Given the description of an element on the screen output the (x, y) to click on. 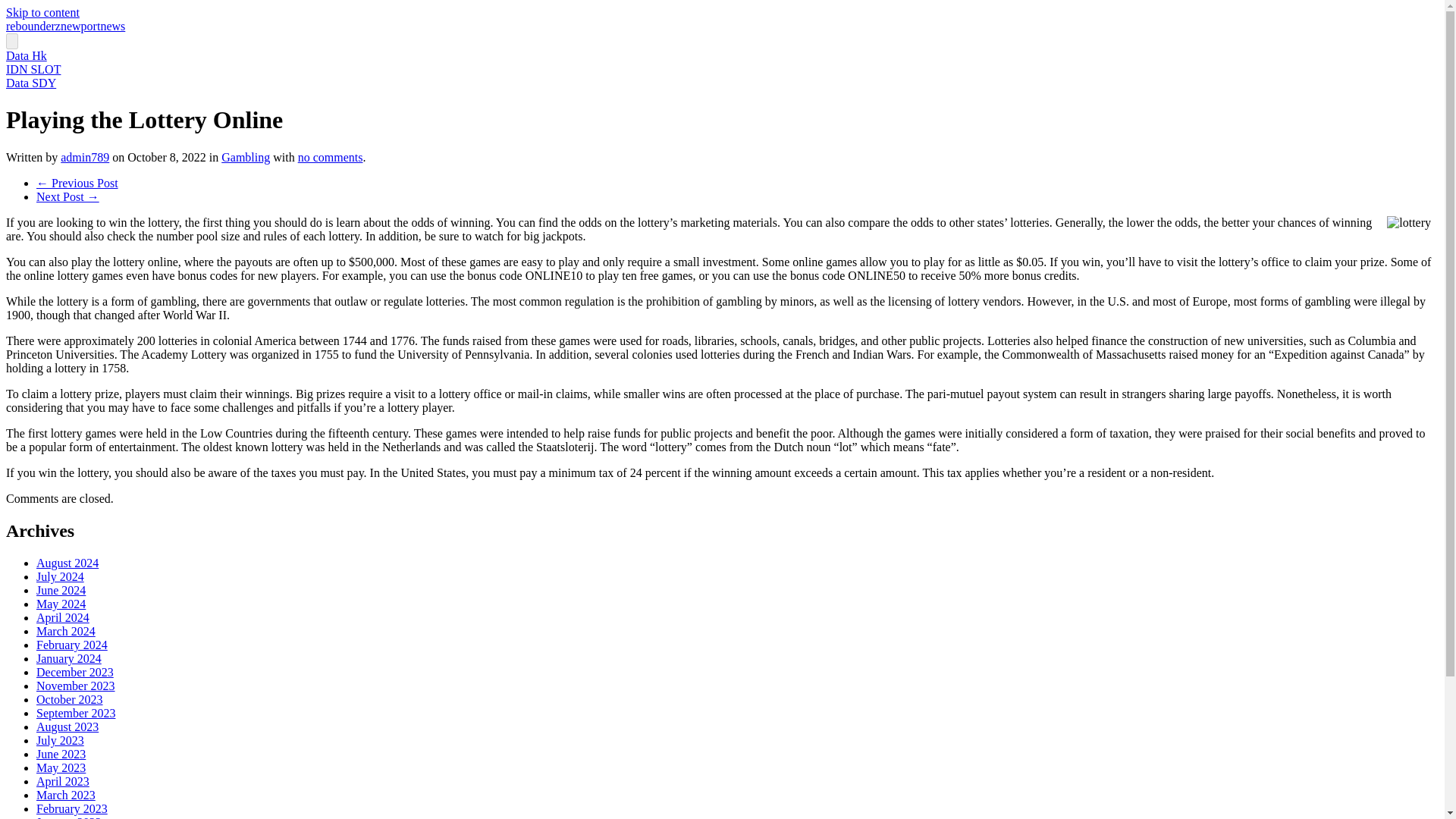
February 2023 (71, 808)
June 2023 (60, 753)
May 2024 (60, 603)
December 2023 (74, 671)
July 2024 (60, 576)
March 2024 (66, 631)
August 2024 (67, 562)
IDN SLOT (33, 69)
July 2023 (60, 739)
April 2024 (62, 617)
